Given the description of an element on the screen output the (x, y) to click on. 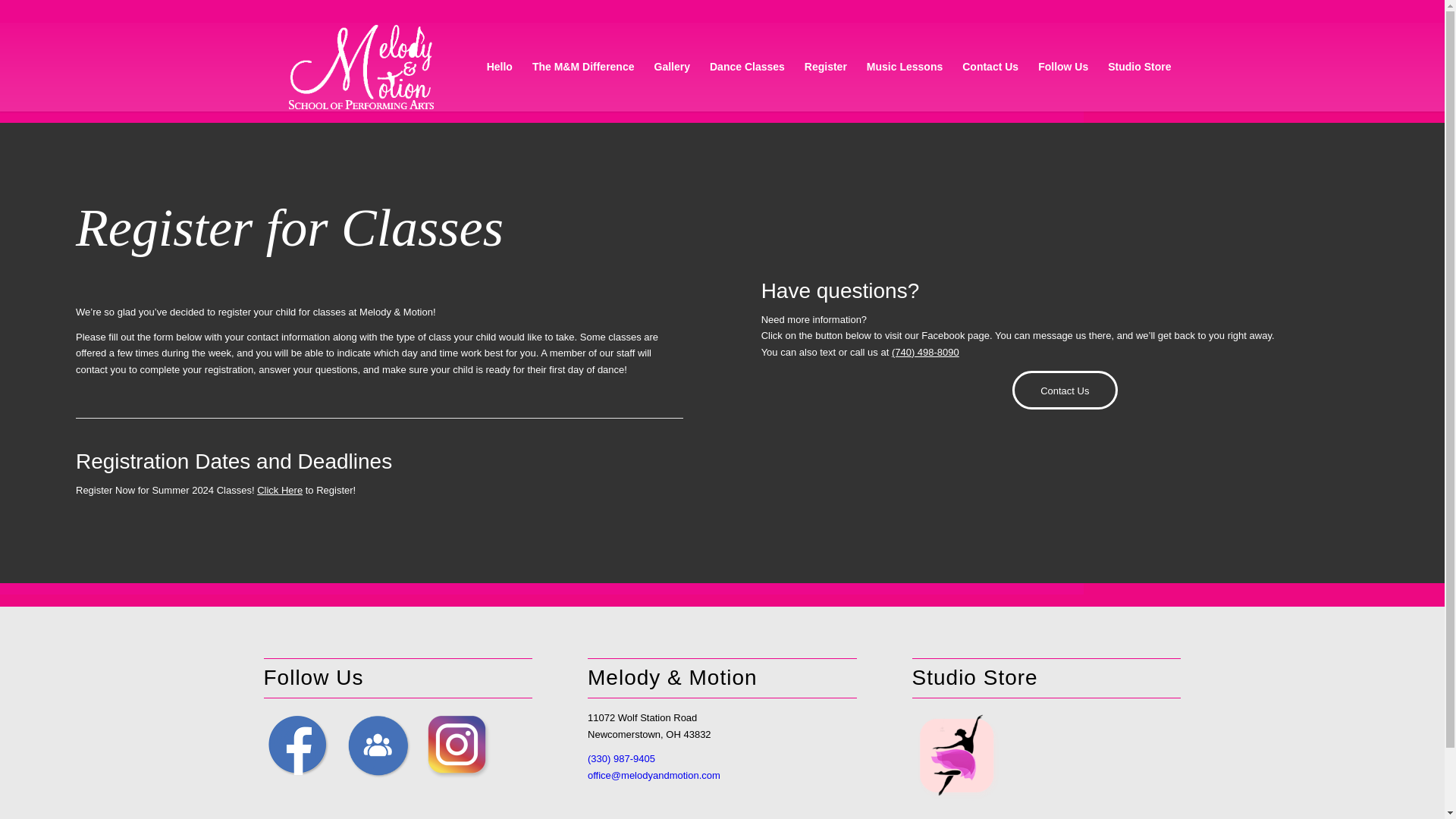
Click Here (279, 490)
Contact Us (1064, 390)
Dance Classes (747, 66)
Studio Store (1138, 66)
Music Lessons (904, 66)
